Given the description of an element on the screen output the (x, y) to click on. 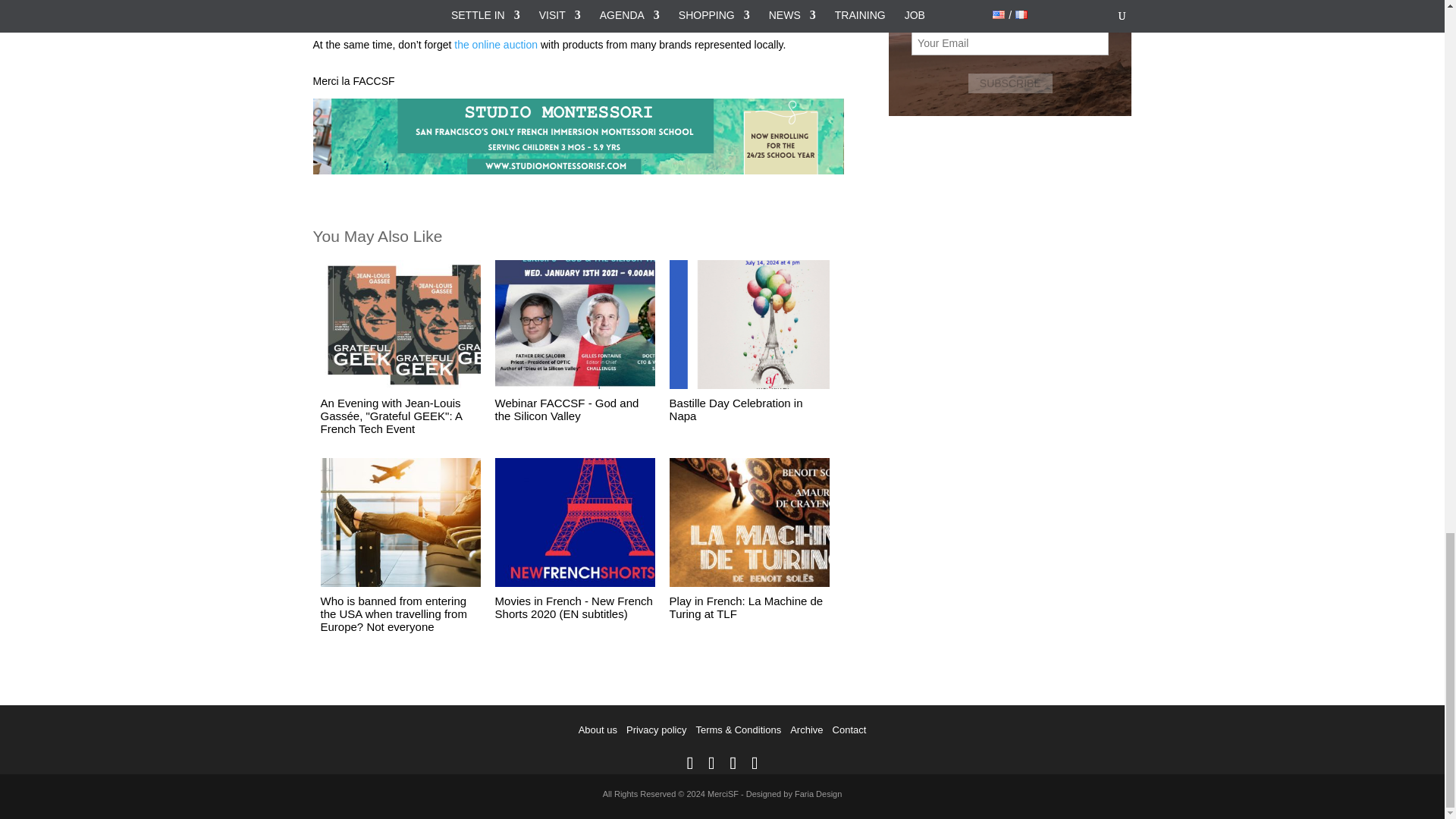
Subscribe (1010, 83)
Faria Design (817, 793)
